Given the description of an element on the screen output the (x, y) to click on. 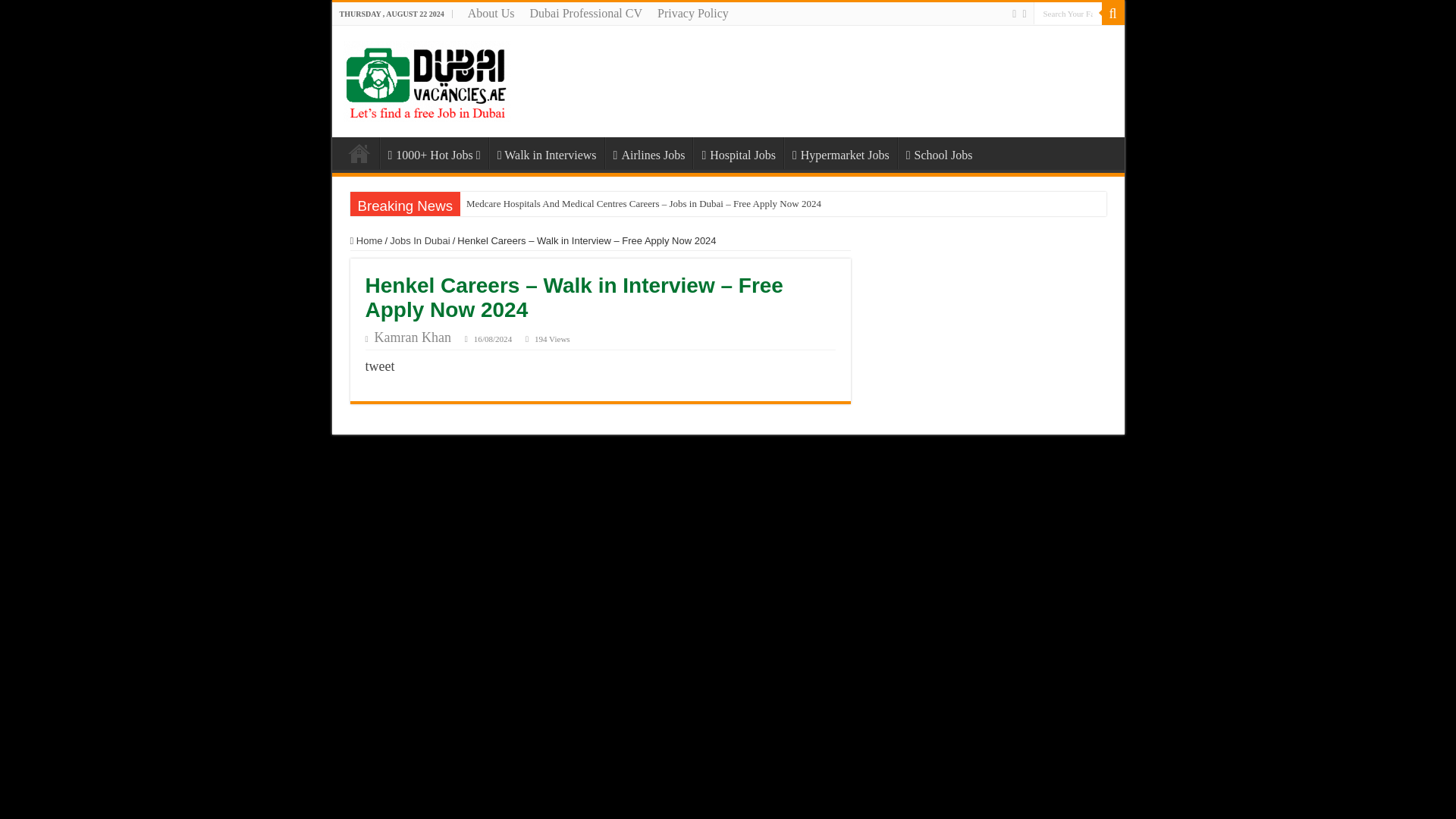
Jobs In Dubai (419, 240)
Kamran Khan (412, 337)
Home (358, 152)
Search Your Favorite Job Here (1112, 13)
Hospital Jobs (738, 152)
Search Your Favorite Job Here (1066, 13)
Search Your Favorite Job Here (1066, 13)
tweet (379, 365)
About Us (491, 13)
Privacy Policy (692, 13)
